Given the description of an element on the screen output the (x, y) to click on. 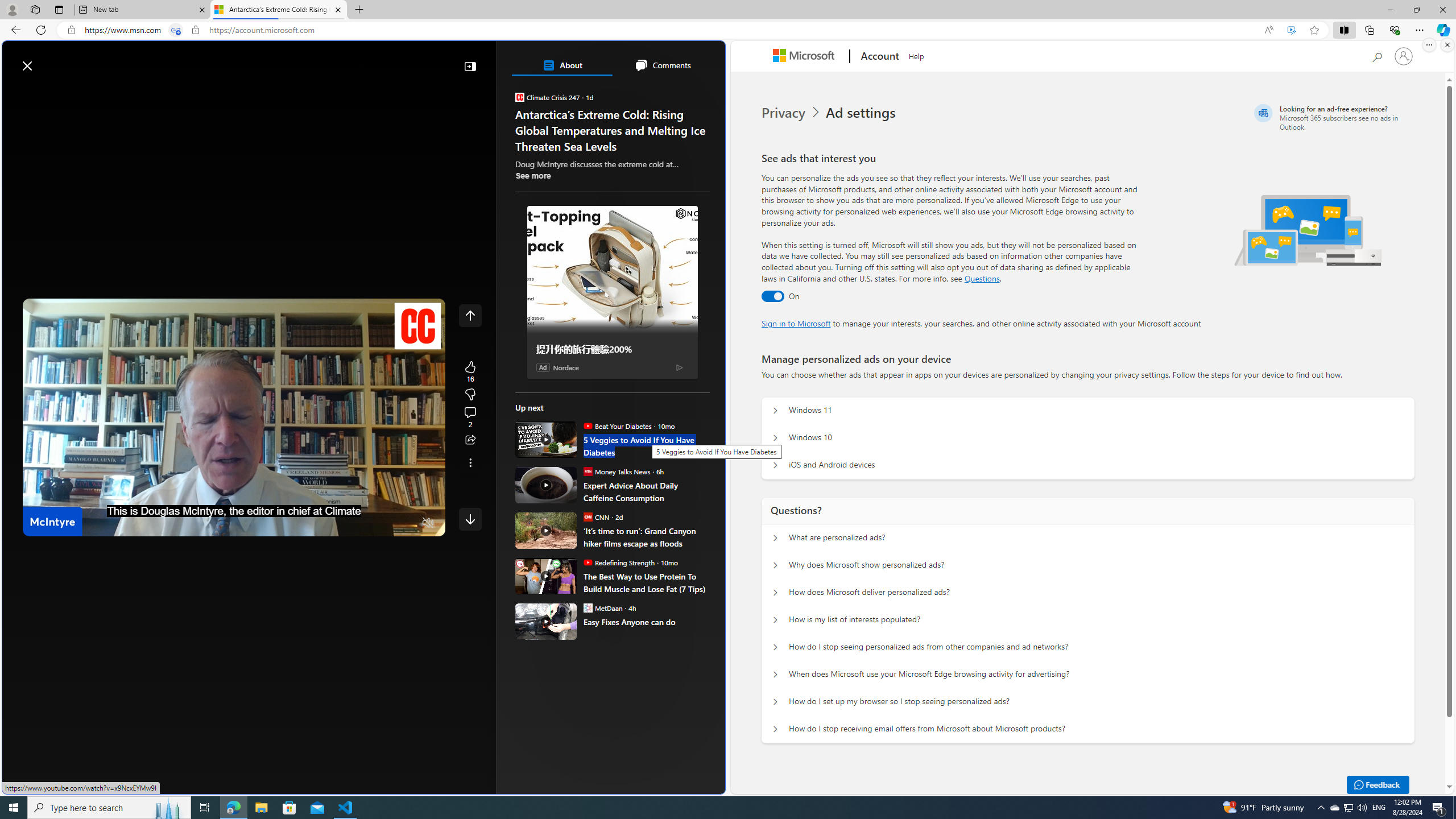
MetDaan MetDaan (602, 607)
Manage personalized ads on your device Windows 11 (775, 410)
Personalize (679, 92)
More options. (1428, 45)
Beat Your Diabetes (587, 425)
Easy Fixes Anyone can do (646, 621)
